Given the description of an element on the screen output the (x, y) to click on. 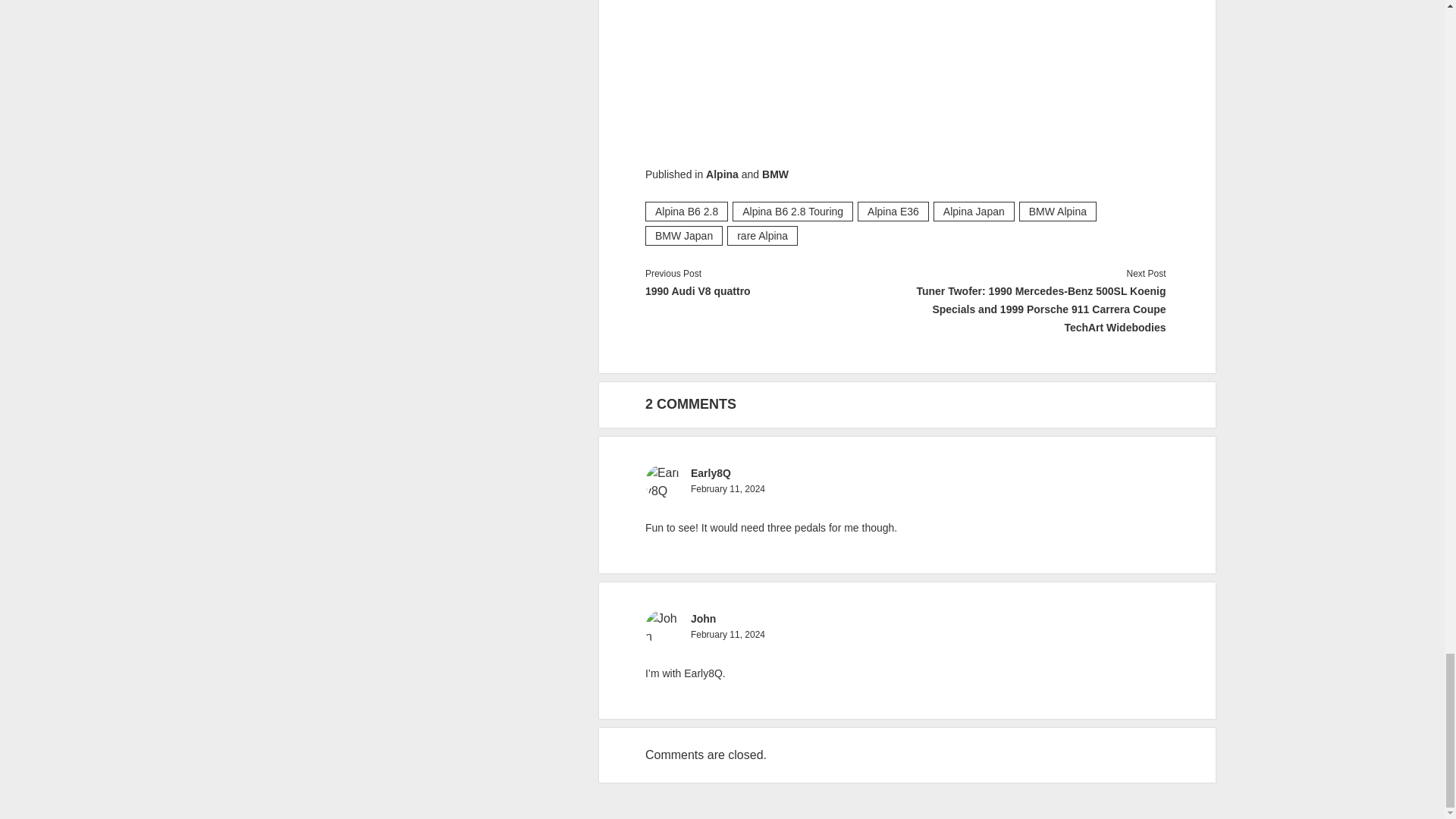
Alpina (722, 174)
View all posts tagged Alpina B6 2.8 Touring (792, 211)
BMW Alpina (1057, 211)
rare Alpina (761, 235)
Alpina B6 2.8 Touring (792, 211)
Alpina Japan (973, 211)
View all posts in Alpina (722, 174)
View all posts tagged Alpina Japan (973, 211)
BMW Japan (683, 235)
View all posts tagged BMW Japan (683, 235)
View all posts tagged Alpina B6 2.8 (686, 211)
View all posts tagged Alpina E36 (892, 211)
View all posts tagged BMW Alpina (1057, 211)
BMW (775, 174)
Alpina E36 (892, 211)
